Given the description of an element on the screen output the (x, y) to click on. 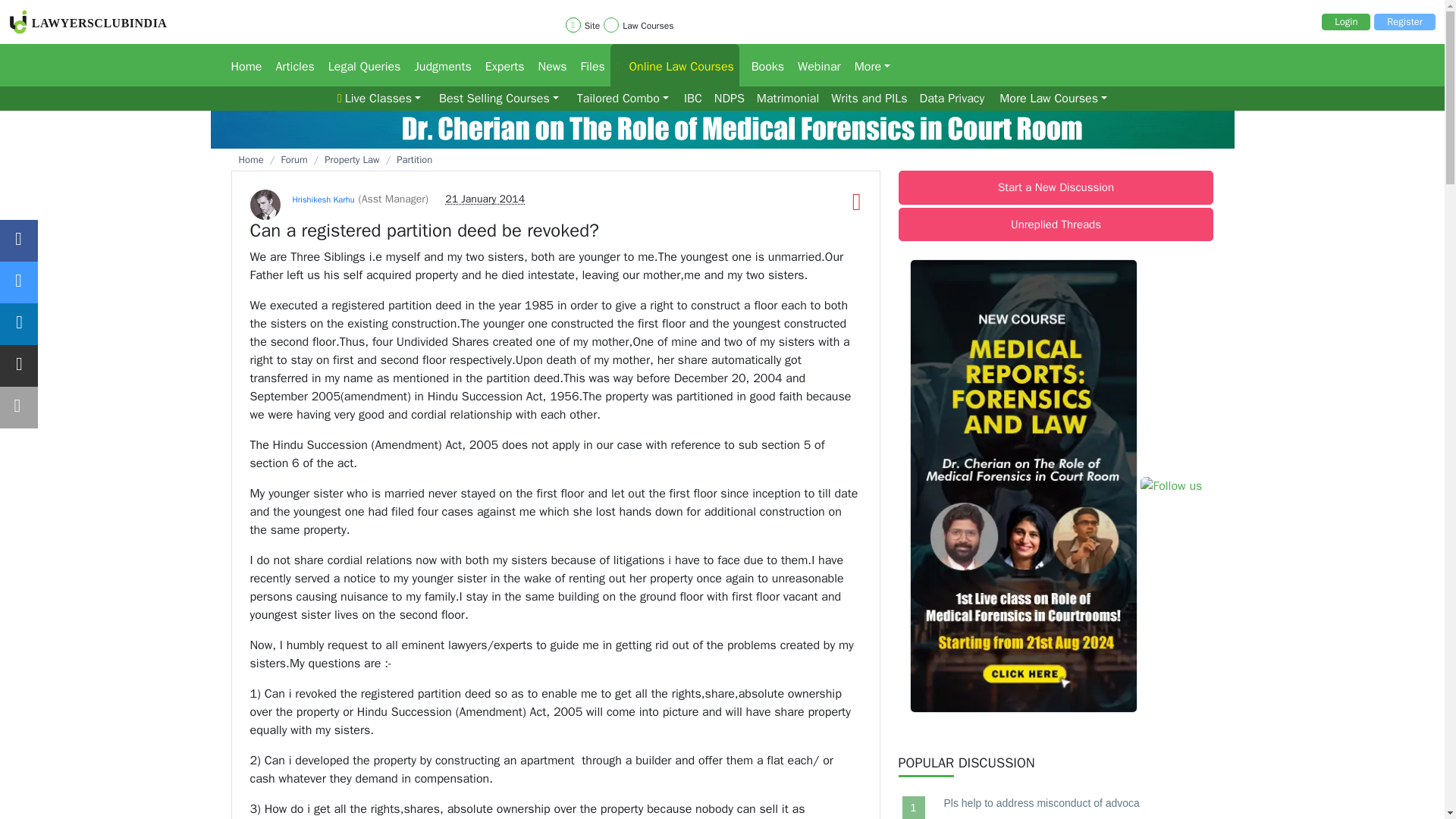
Share Files (589, 65)
Webinar (814, 65)
Live Classes (378, 98)
Online Law Courses  (674, 65)
Login (1346, 21)
Articles (289, 65)
Articles (289, 65)
Books (762, 65)
News (547, 65)
Judgments (436, 65)
